Given the description of an element on the screen output the (x, y) to click on. 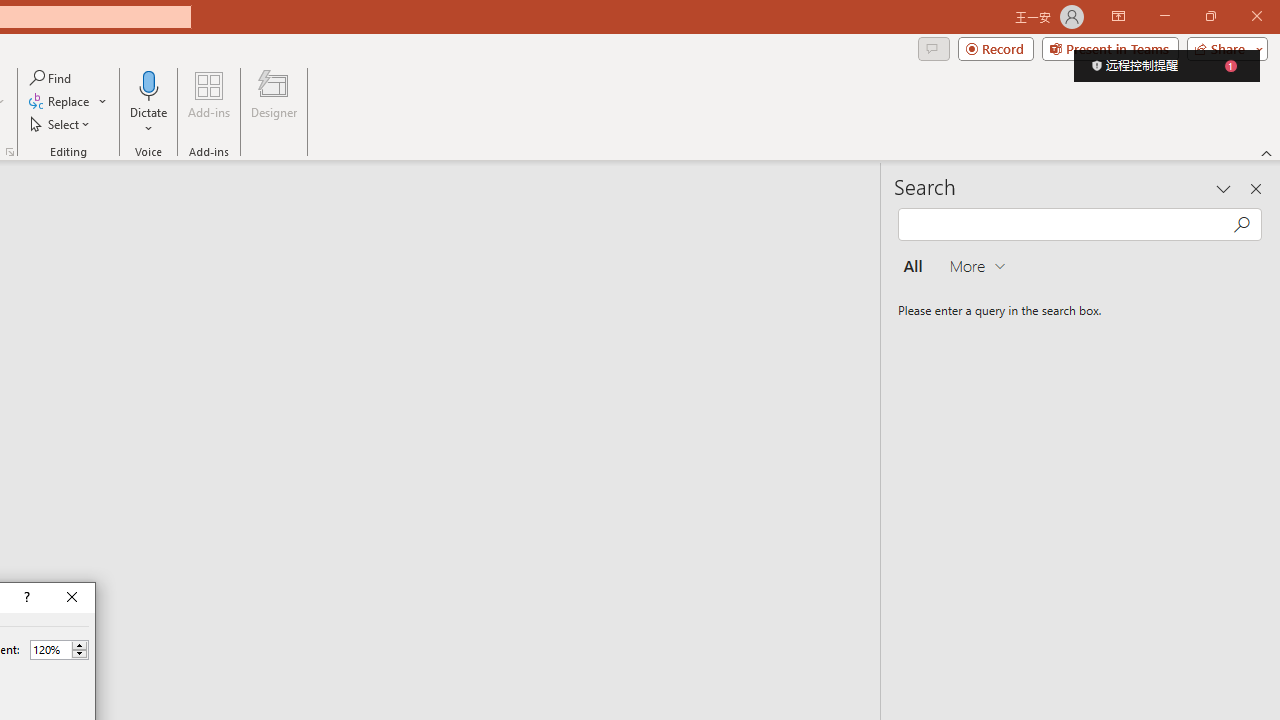
Less (79, 654)
Percent (59, 650)
